Given the description of an element on the screen output the (x, y) to click on. 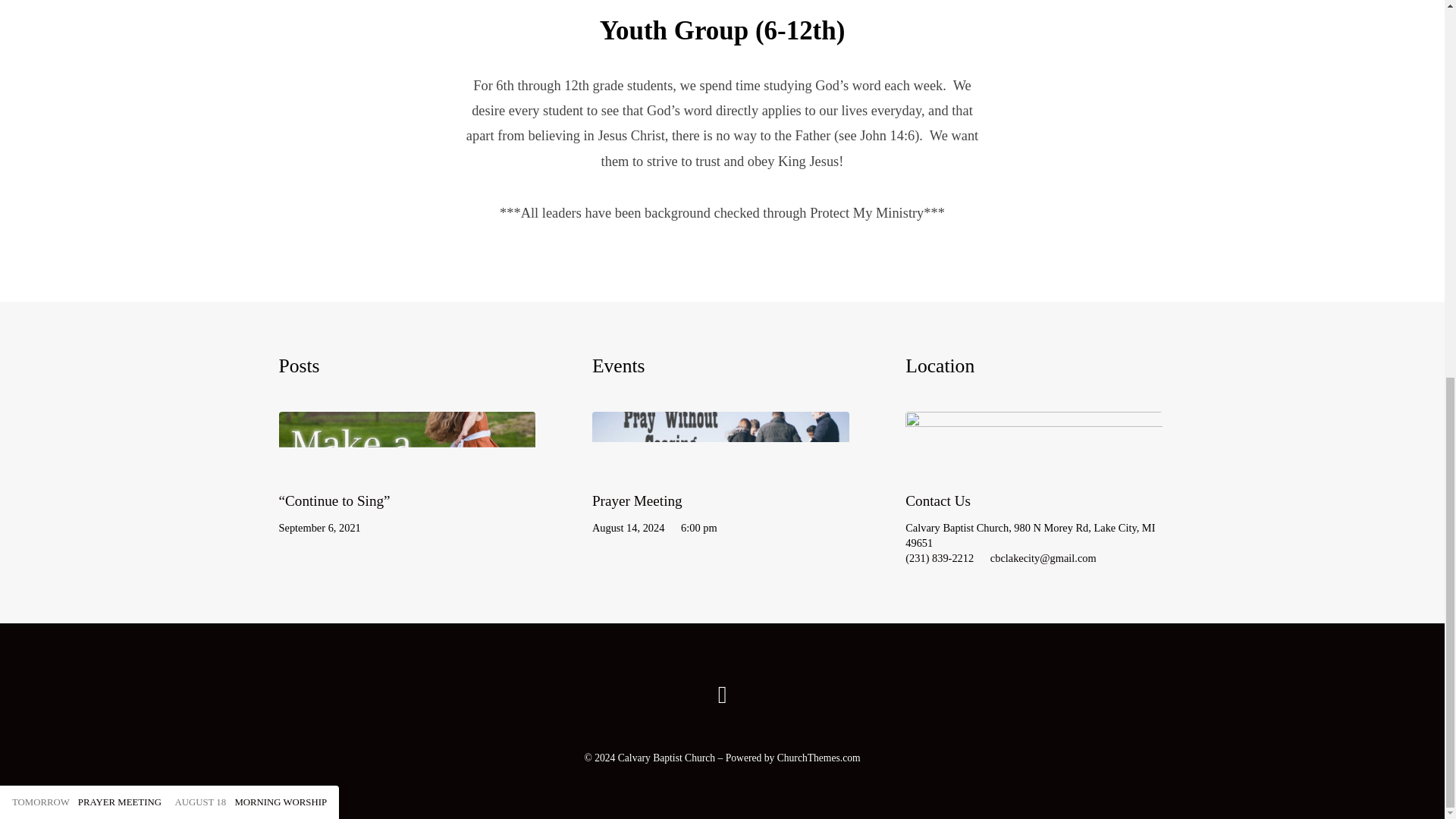
Contact Us (1033, 463)
AUGUST 18 MORNING WORSHIP (250, 104)
Prayer Meeting (637, 500)
Morning Worship (250, 104)
Prayer Meeting (86, 104)
Prayer Meeting (720, 463)
TOMORROW PRAYER MEETING (86, 104)
Prayer Meeting (637, 500)
ChurchThemes.com (818, 757)
Contact Us (938, 500)
